Given the description of an element on the screen output the (x, y) to click on. 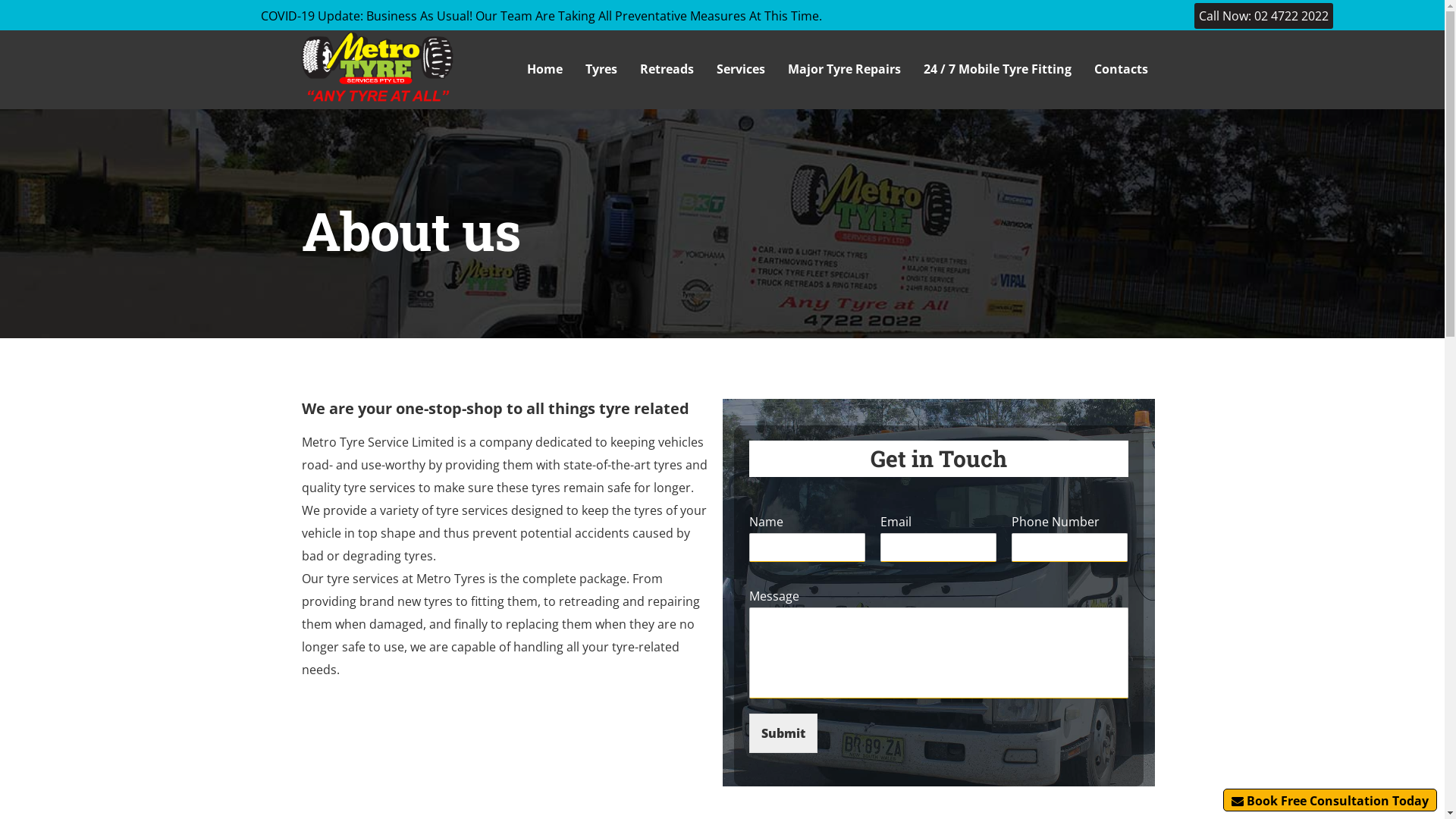
Book Free Consultation Today Element type: text (1330, 799)
Submit Element type: text (783, 733)
Major Tyre Repairs Element type: text (844, 69)
24 / 7 Mobile Tyre Fitting Element type: text (996, 69)
Services Element type: text (740, 69)
Metro Tyre Services Logo Element type: hover (377, 67)
Tyres Element type: text (600, 69)
Home Element type: text (544, 69)
Contacts Element type: text (1120, 69)
Retreads Element type: text (665, 69)
Call Now: 02 4722 2022 Element type: text (1263, 15)
